Given the description of an element on the screen output the (x, y) to click on. 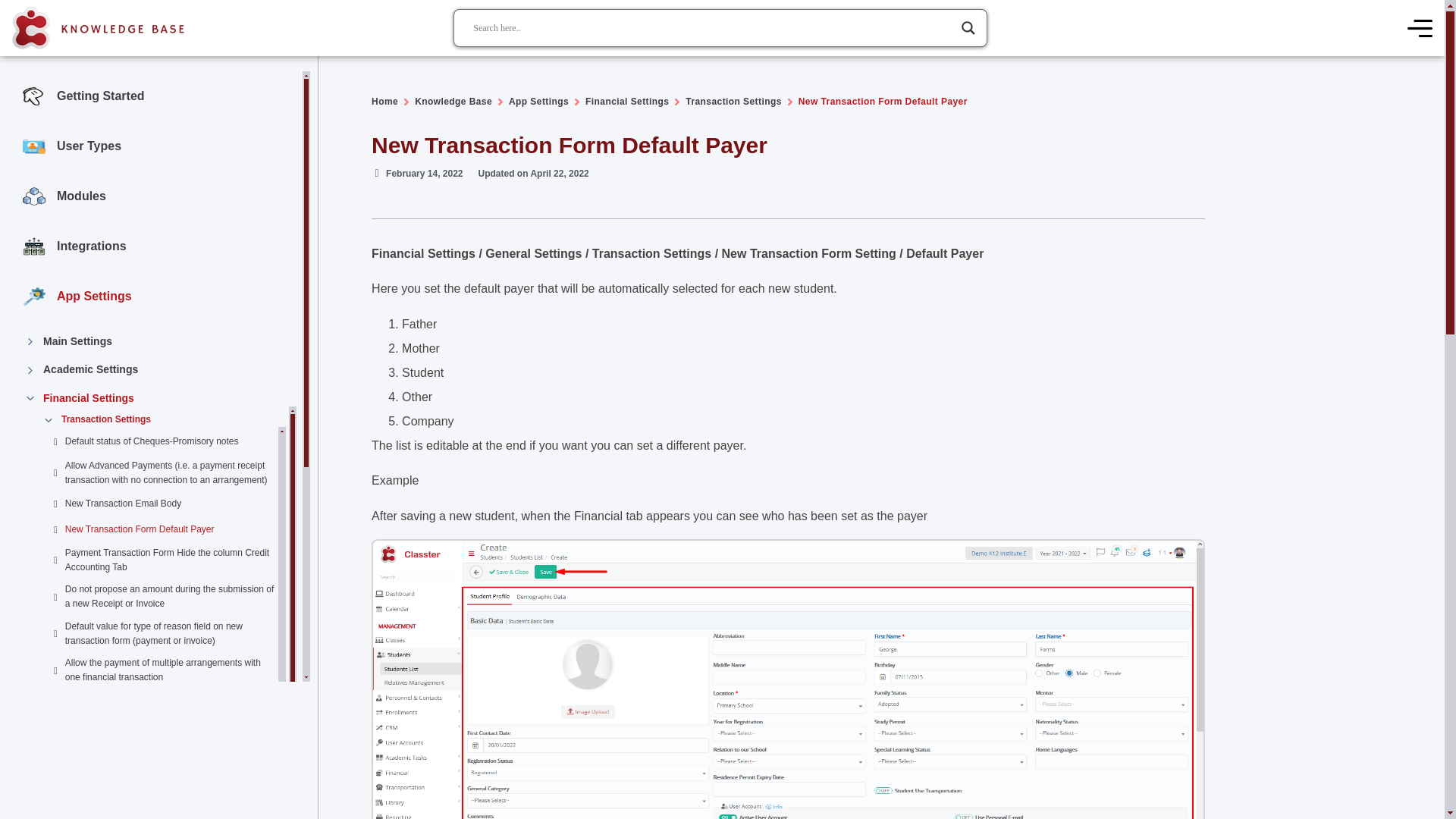
Transaction Settings (732, 101)
Knowledge Base (453, 101)
Financial Settings (626, 101)
App Settings (538, 101)
Home (384, 101)
